Given the description of an element on the screen output the (x, y) to click on. 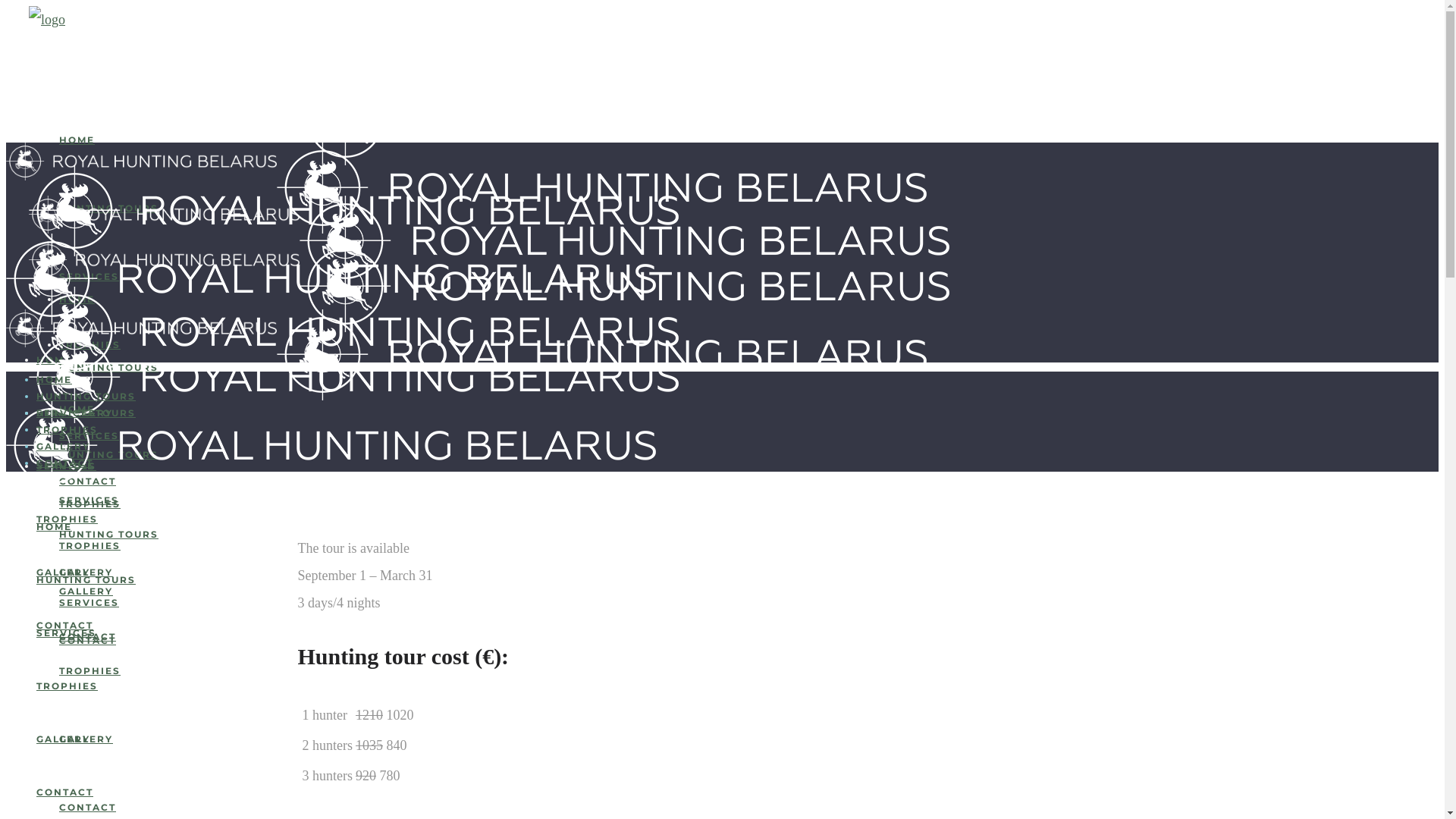
HUNTING TOURS Element type: text (108, 533)
TROPHIES Element type: text (89, 344)
GALLERY Element type: text (85, 590)
CONTACT Element type: text (87, 806)
TROPHIES Element type: text (89, 503)
HUNTING TOURS Element type: text (85, 412)
HOME Element type: text (54, 526)
HOME Element type: text (76, 139)
SERVICES Element type: text (66, 465)
HUNTING TOURS Element type: text (85, 395)
HOME Element type: text (54, 379)
HOME Element type: text (76, 408)
GALLERY Element type: text (63, 571)
HUNTING TOURS Element type: text (108, 367)
SERVICES Element type: text (66, 412)
CONTACT Element type: text (64, 791)
HUNTING TOURS Element type: text (108, 207)
TROPHIES Element type: text (66, 685)
HUNTING TOURS Element type: text (108, 454)
GALLERY Element type: text (63, 445)
CONTACT Element type: text (87, 640)
SERVICES Element type: text (89, 276)
HUNTING TOURS Element type: text (85, 579)
TROPHIES Element type: text (89, 670)
TROPHIES Element type: text (89, 545)
GALLERY Element type: text (63, 738)
TROPHIES Element type: text (66, 429)
CONTACT Element type: text (87, 636)
CONTACT Element type: text (64, 462)
GALLERY Element type: text (85, 738)
GALLERY Element type: text (85, 412)
HOME Element type: text (76, 298)
TROPHIES Element type: text (66, 518)
SERVICES Element type: text (89, 435)
SERVICES Element type: text (89, 499)
SERVICES Element type: text (66, 632)
GALLERY Element type: text (85, 571)
HOME Element type: text (54, 359)
CONTACT Element type: text (64, 624)
HOME Element type: text (76, 465)
CONTACT Element type: text (87, 480)
SERVICES Element type: text (89, 602)
